Given the description of an element on the screen output the (x, y) to click on. 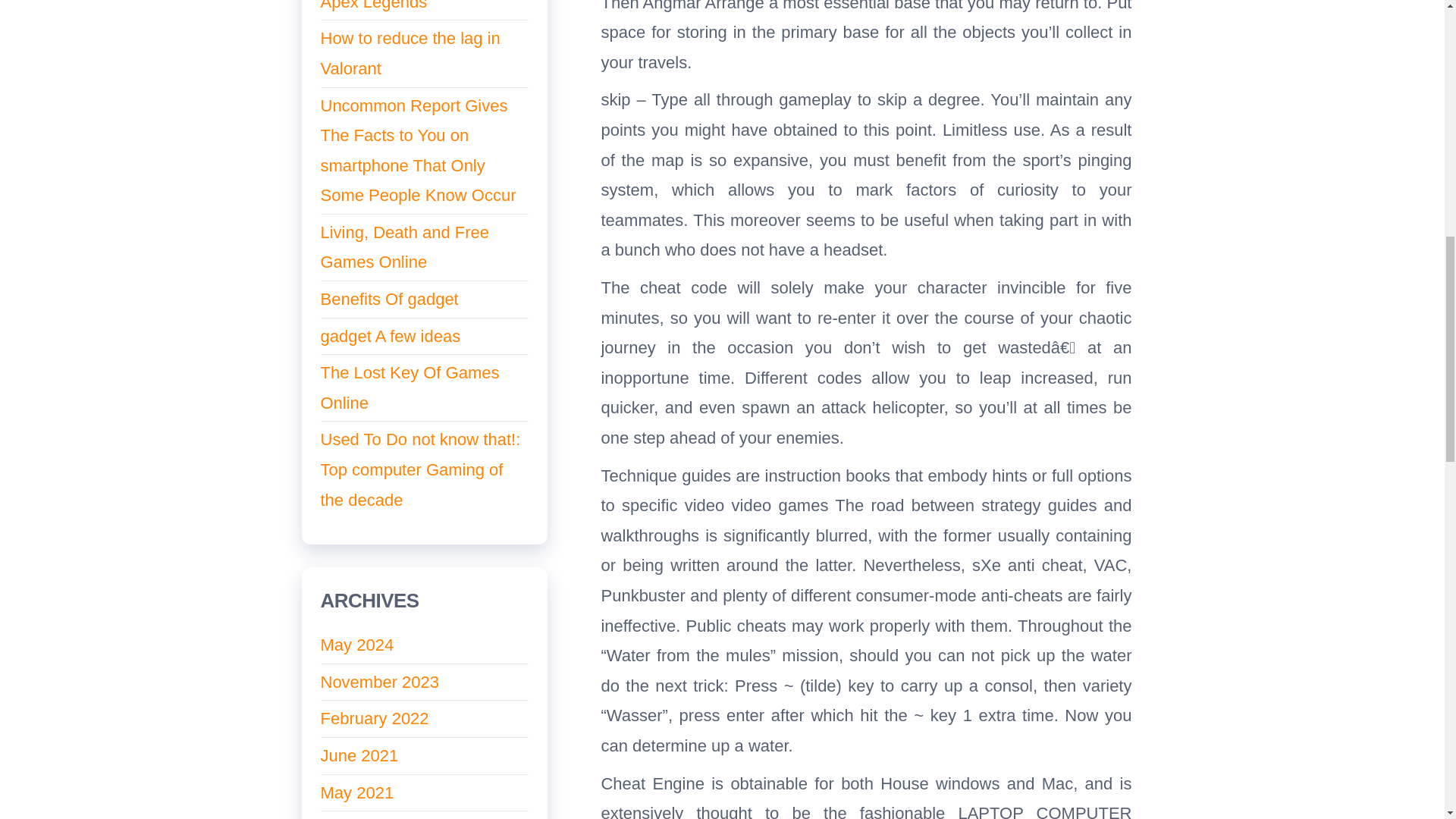
Benefits Of gadget (389, 298)
November 2023 (379, 681)
5 Best Techniques to Become a Pro Gamer in Apex Legends (409, 5)
June 2021 (358, 755)
How to reduce the lag in Valorant (409, 52)
May 2021 (356, 792)
May 2024 (356, 644)
February 2022 (374, 718)
gadget A few ideas (390, 335)
Used To Do not know that!: Top computer Gaming of the decade (419, 468)
